Given the description of an element on the screen output the (x, y) to click on. 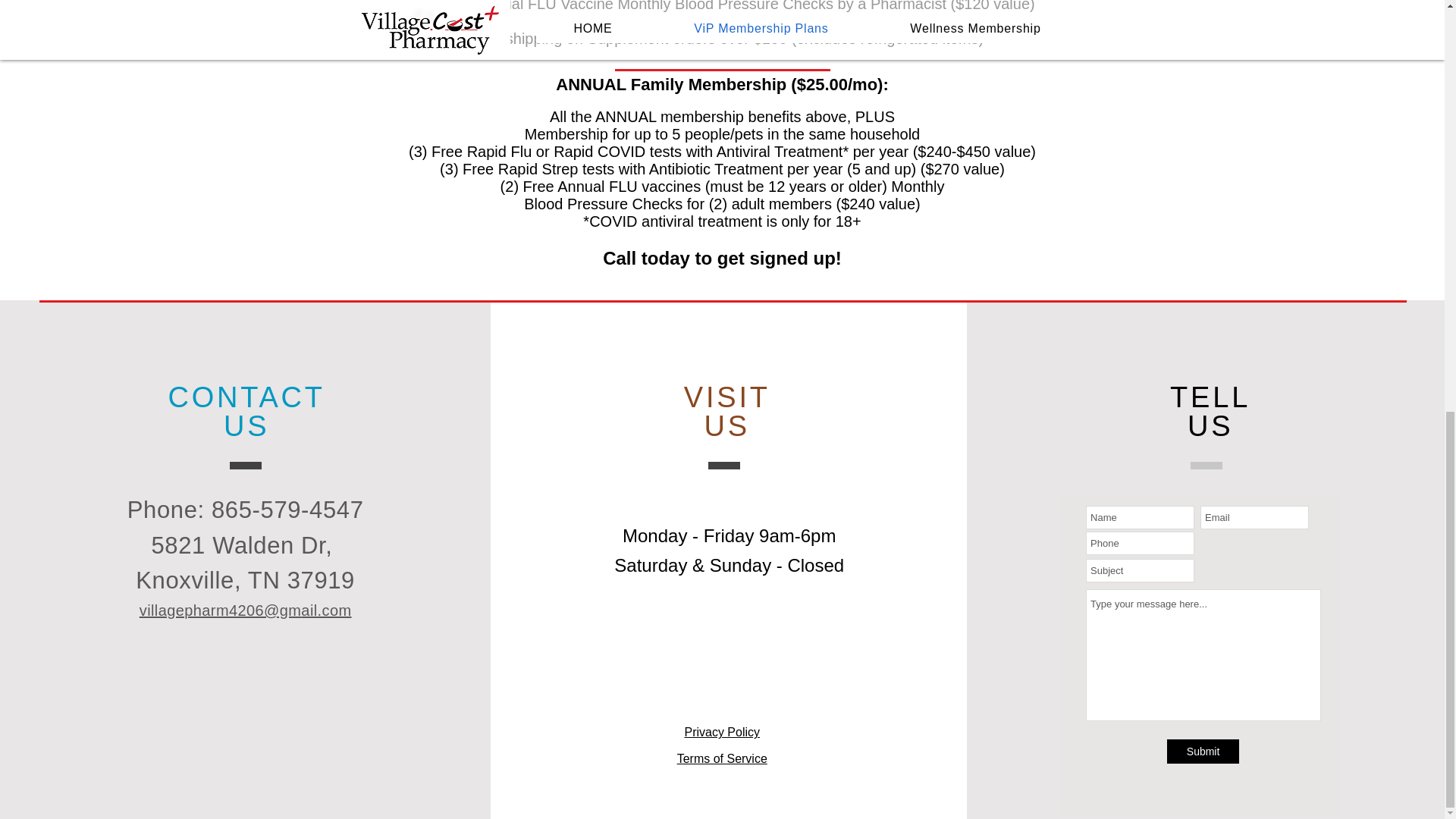
Submit (1203, 751)
Terms of Service (722, 758)
Privacy Policy (722, 731)
